Given the description of an element on the screen output the (x, y) to click on. 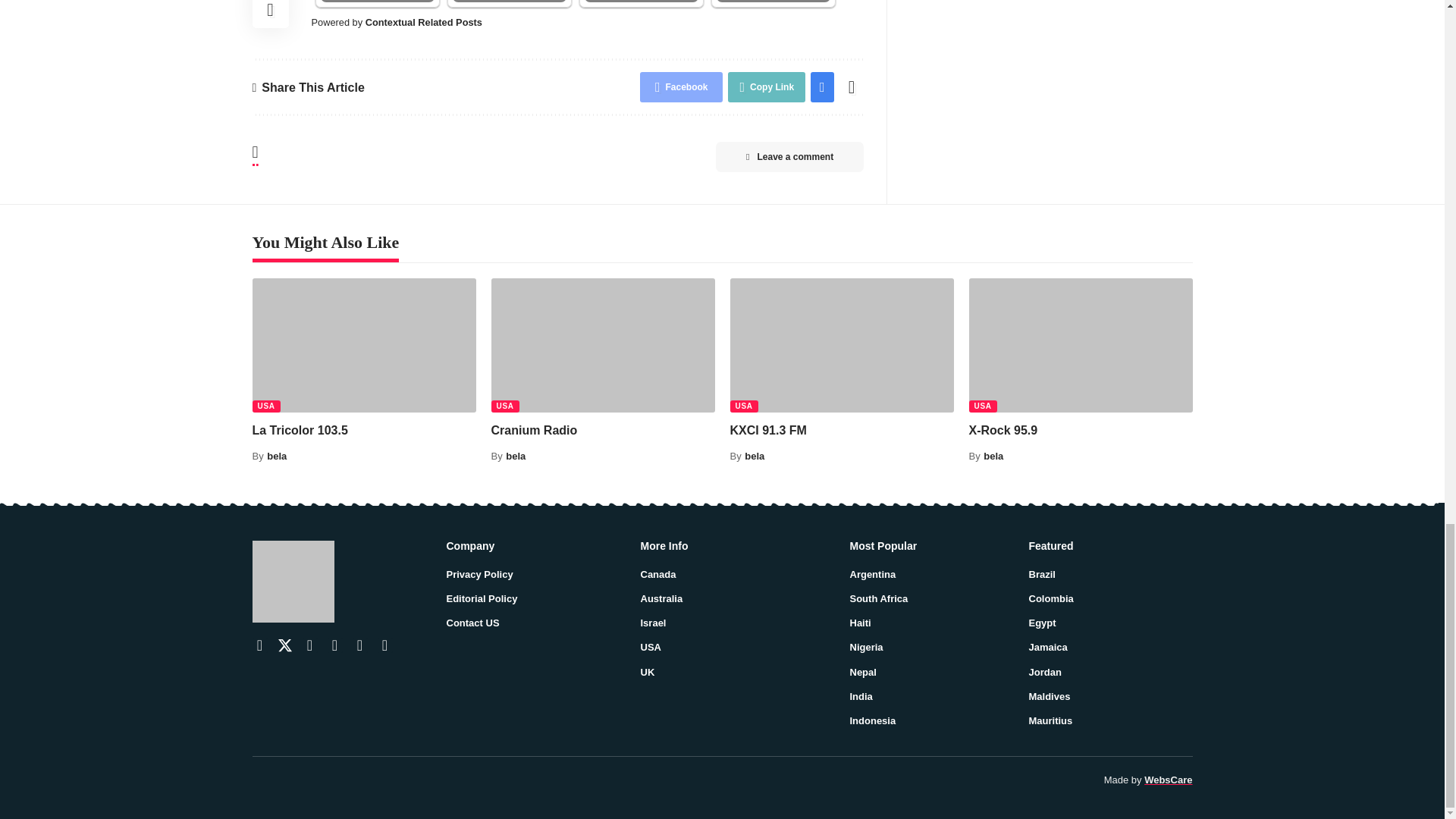
Cranium Radio (603, 345)
KXCI 91.3 FM (841, 345)
La Tricolor 103.5 (363, 345)
